Given the description of an element on the screen output the (x, y) to click on. 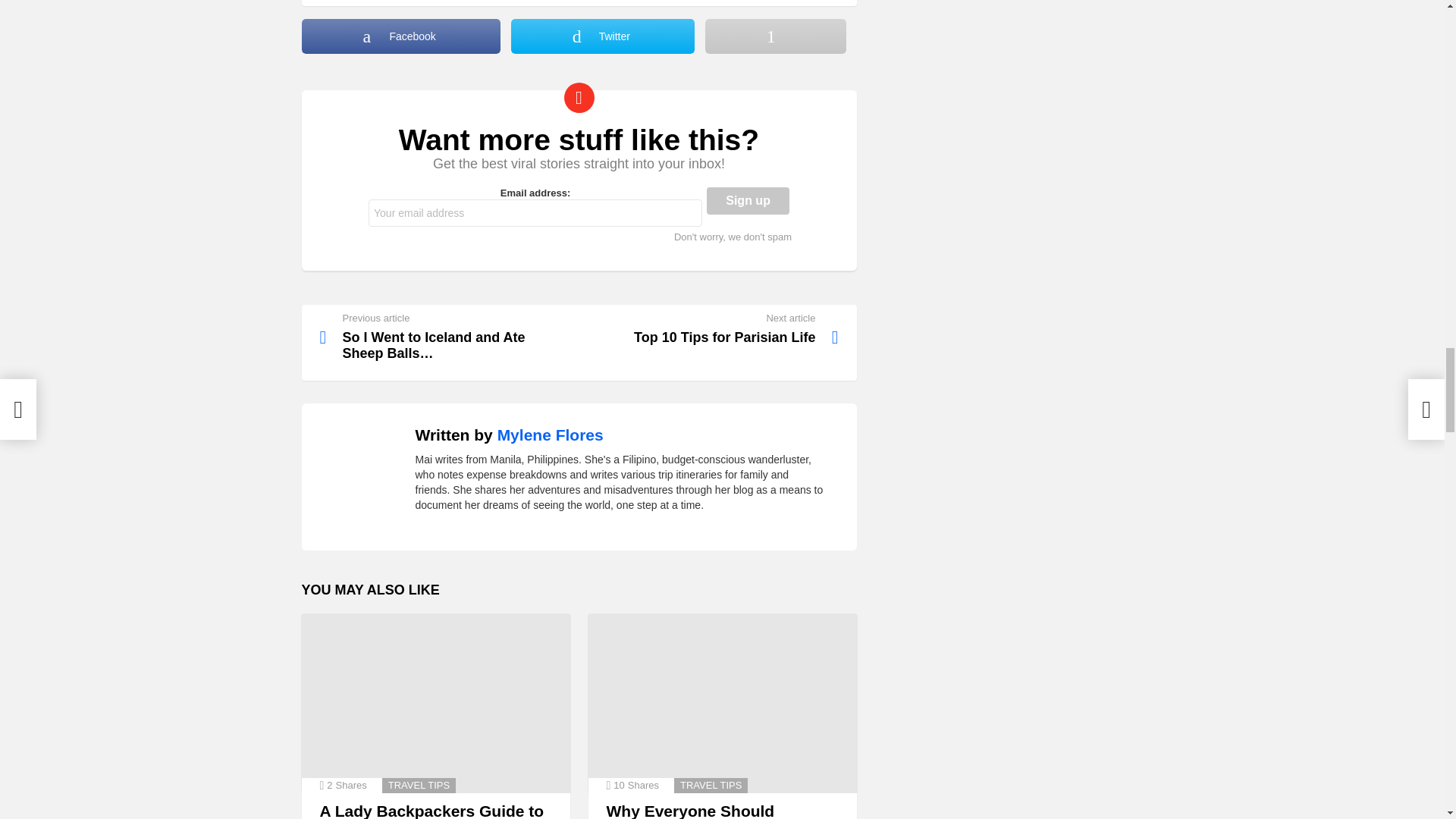
Sign up (747, 200)
